Given the description of an element on the screen output the (x, y) to click on. 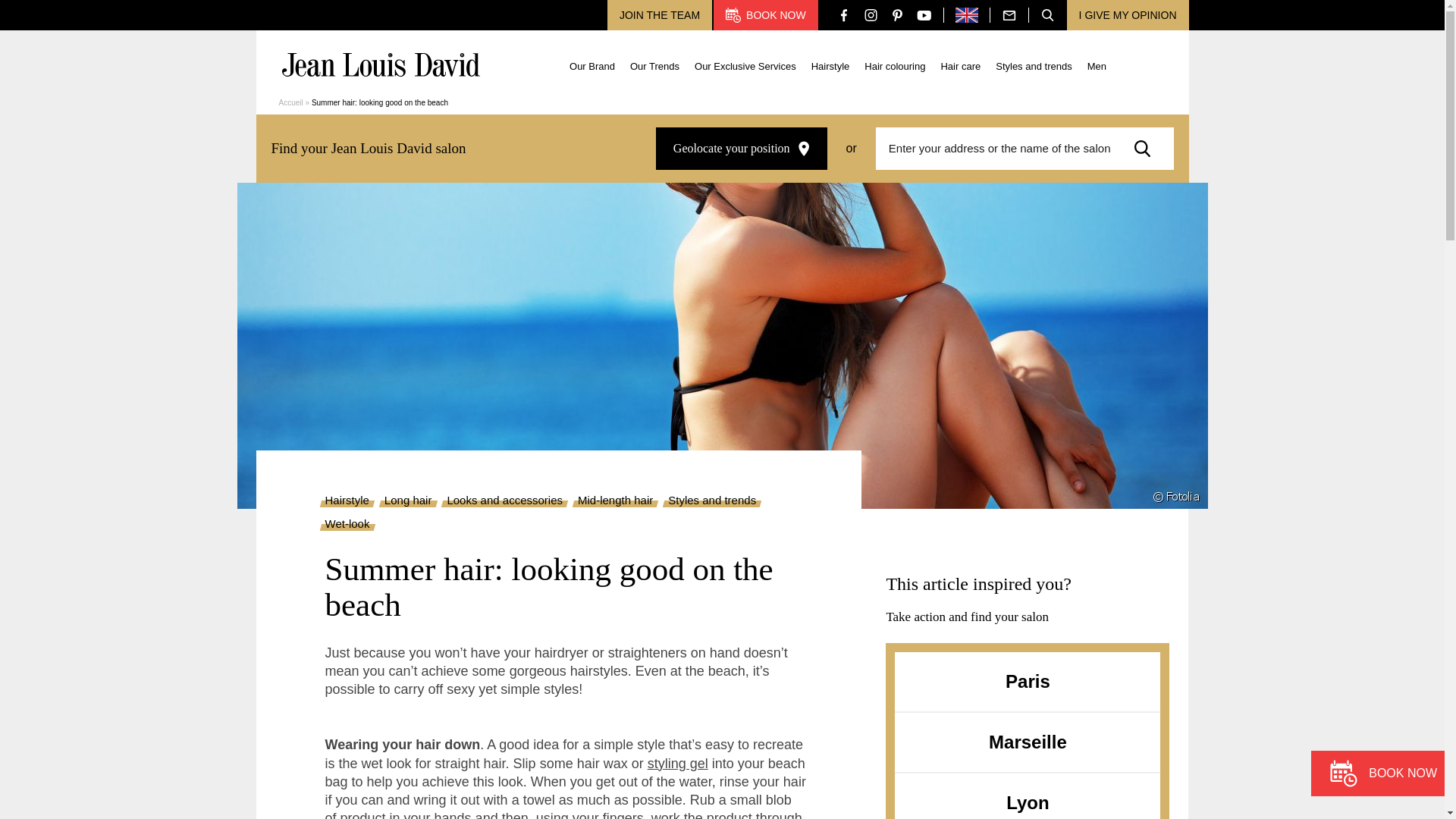
Accueil (290, 102)
English (966, 15)
Our Brand (592, 64)
Our Exclusive Services (745, 64)
Men (1096, 64)
Hair care (960, 64)
Instagram (870, 14)
Design Gel (677, 762)
Ouvrir la recherche (1047, 15)
I GIVE MY OPINION (1128, 15)
